Given the description of an element on the screen output the (x, y) to click on. 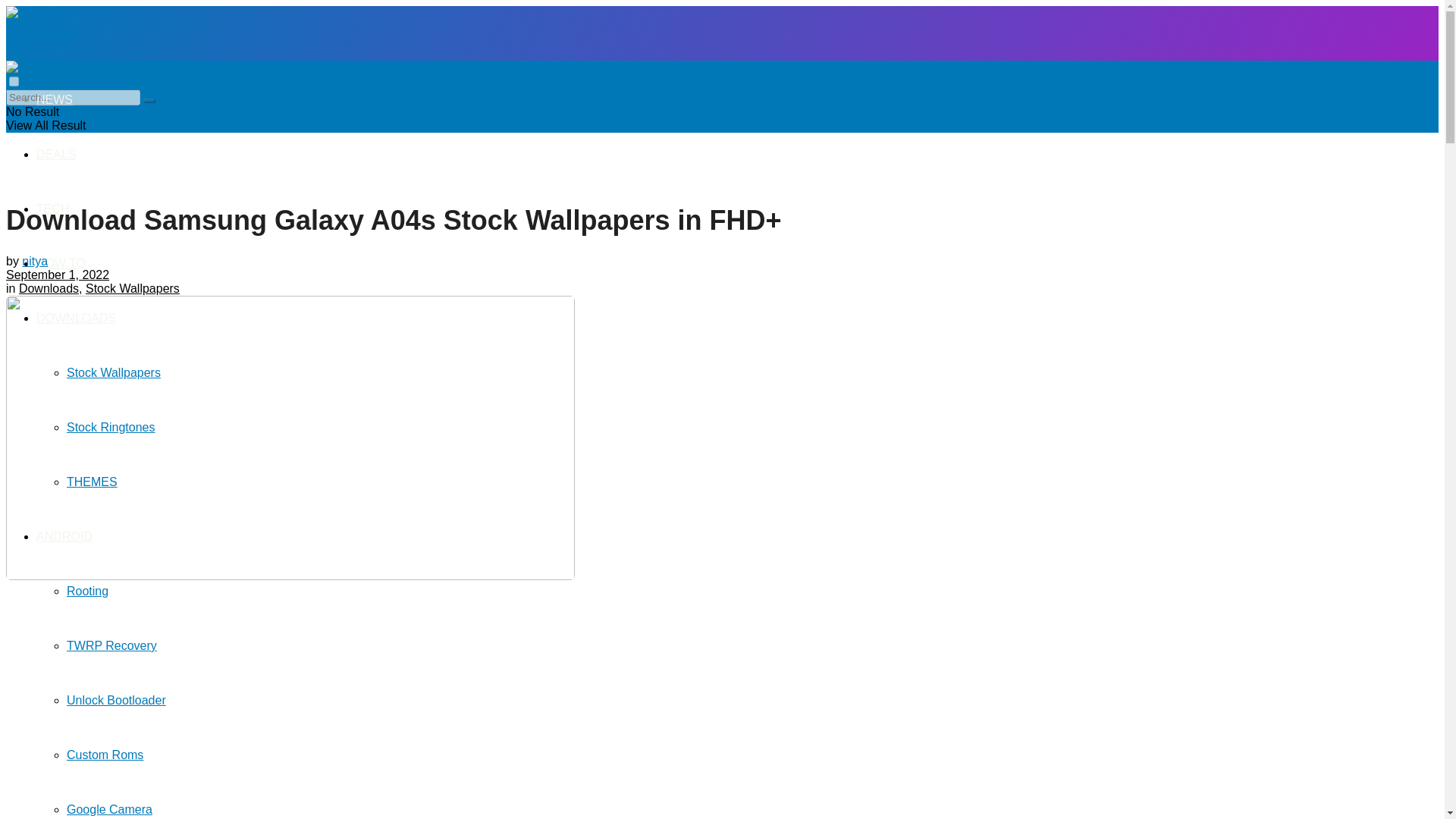
DOWNLOADS (76, 318)
nitya (34, 260)
DEALS (55, 154)
HOW TO (60, 263)
Stock Wallpapers (132, 287)
TECH (52, 208)
Stock Ringtones (110, 427)
NEWS (54, 99)
TWRP Recovery (111, 645)
Stock Wallpapers (113, 372)
